Given the description of an element on the screen output the (x, y) to click on. 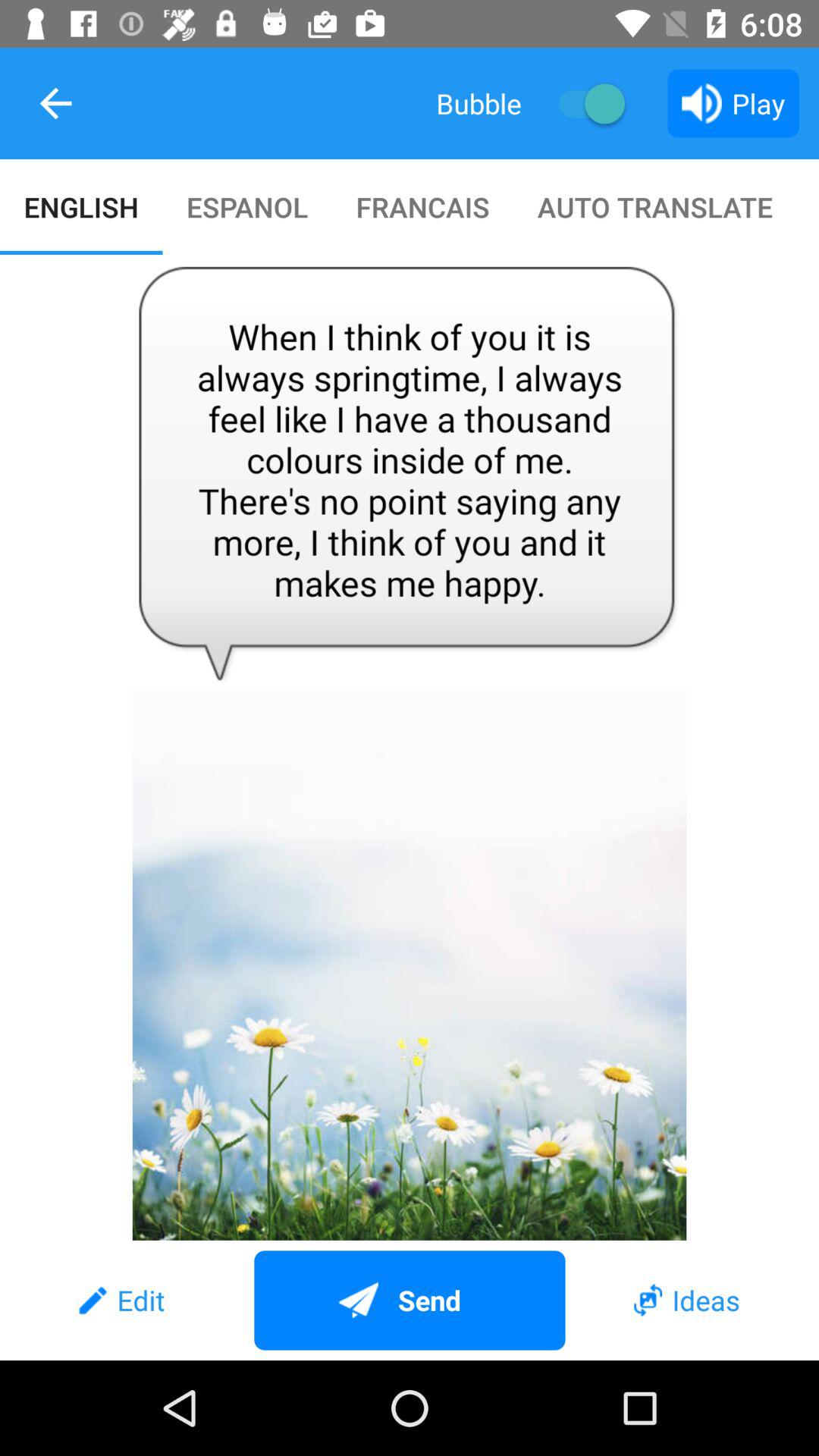
tap the icon above edit item (409, 748)
